Given the description of an element on the screen output the (x, y) to click on. 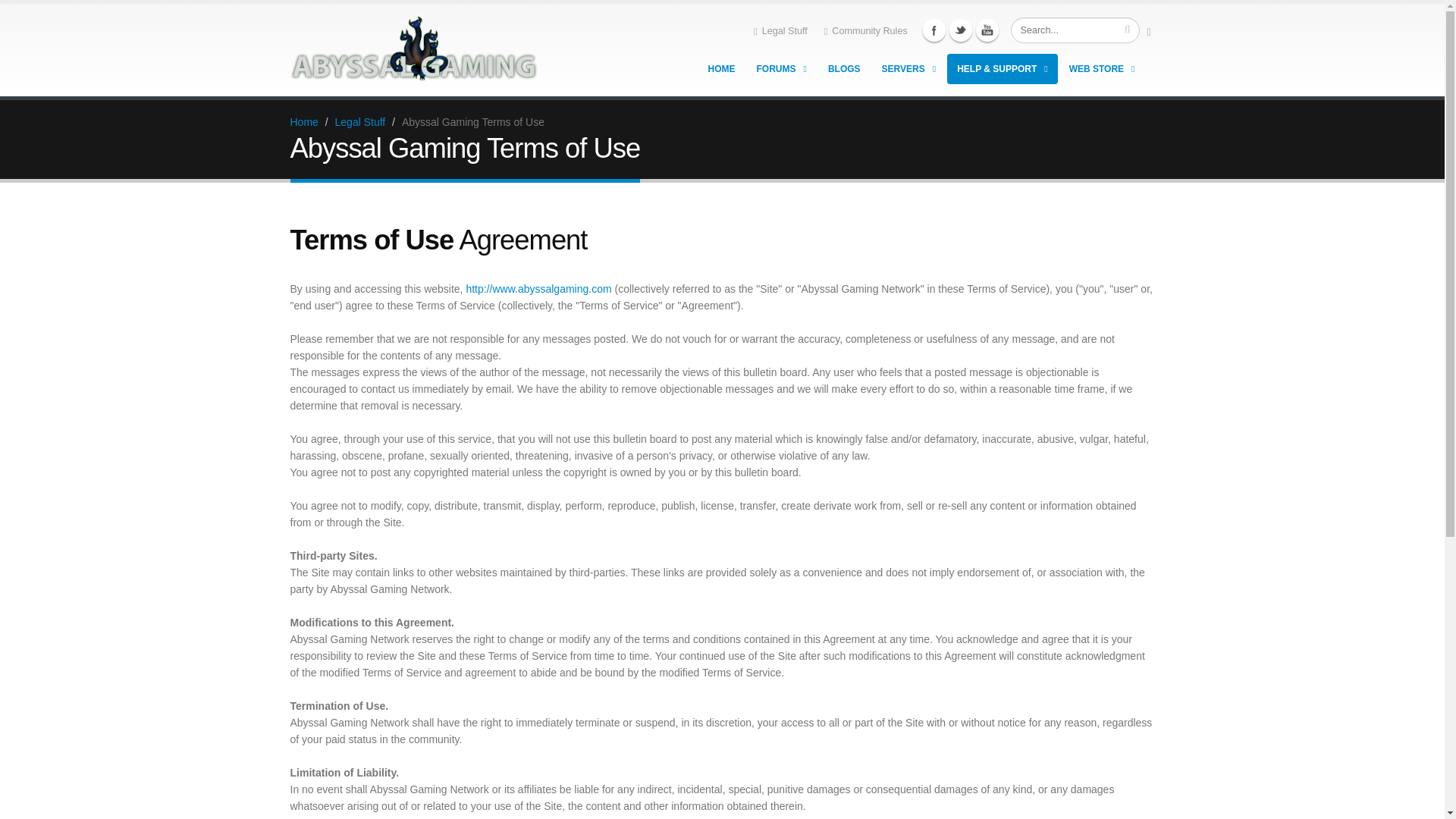
Facebook (933, 29)
BLOGS (844, 69)
Advanced Search (1146, 17)
Community Rules (865, 31)
Twitter (960, 29)
FORUMS   (781, 69)
HOME (721, 69)
SERVERS   (909, 69)
YouTube (986, 29)
Legal Stuff (780, 31)
